Given the description of an element on the screen output the (x, y) to click on. 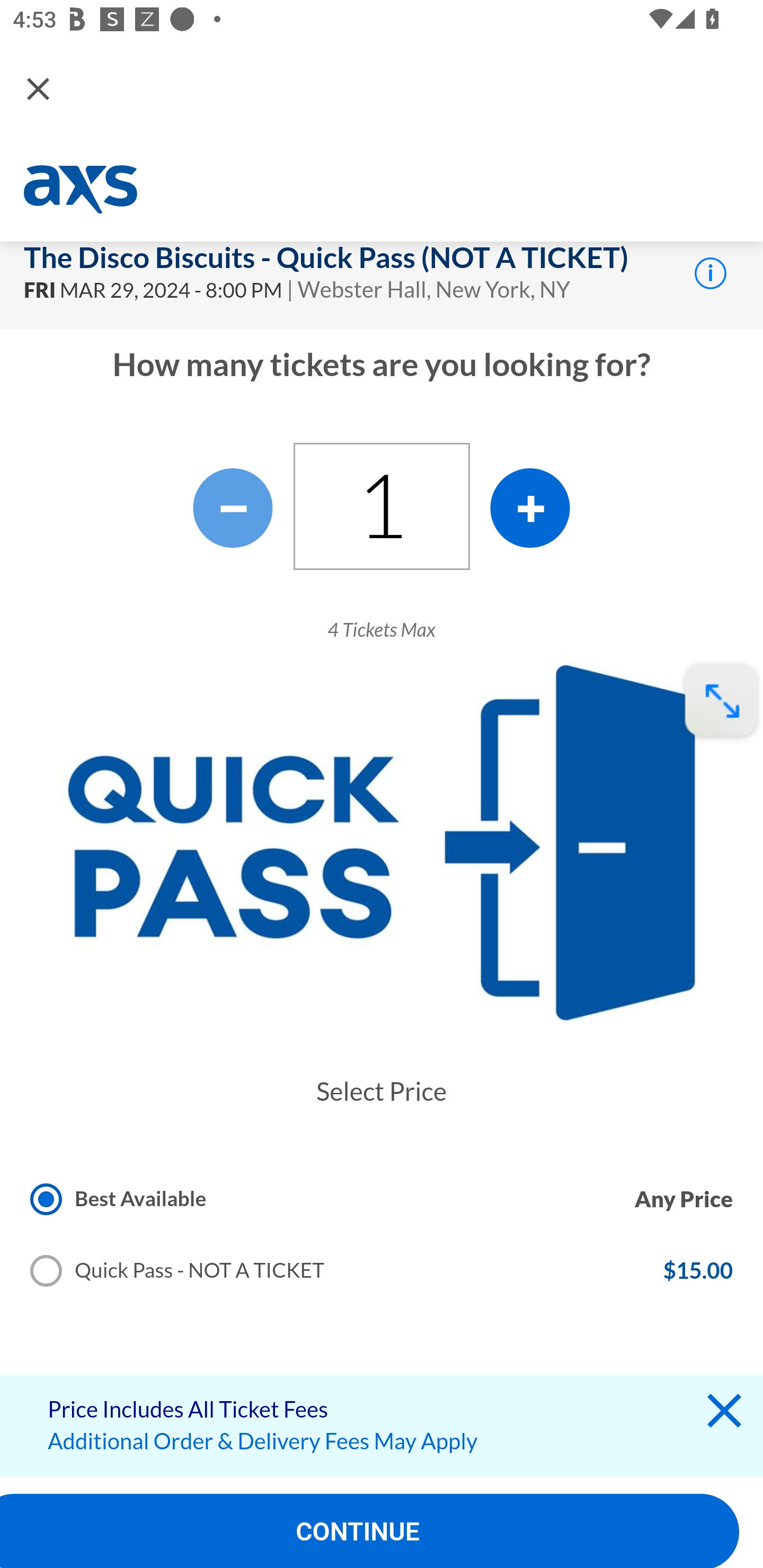
Close (38, 88)
BoweryNY-WH (83, 190)
I (710, 272)
Minus (232, 507)
Plus (530, 507)
Full In (721, 700)
Best Available (118, 1198)
Quick Pass - NOT A TICKET (177, 1270)
$15.00 (697, 1270)
Close (723, 1414)
Additional Order & Delivery Fees May Apply (262, 1440)
CONTINUE (369, 1531)
